Given the description of an element on the screen output the (x, y) to click on. 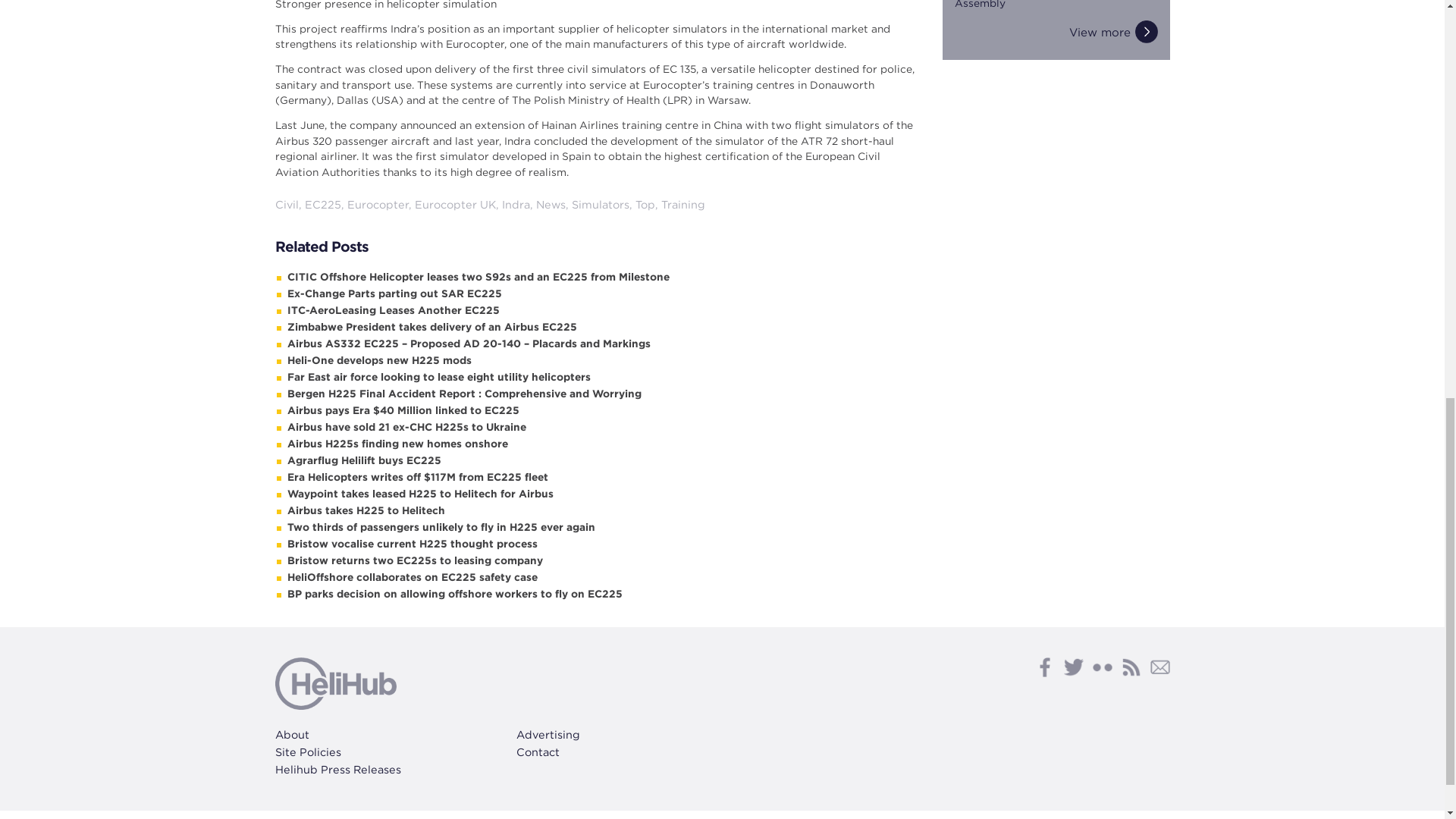
Twitter (1072, 667)
Facebook (1043, 667)
Flickr (1102, 667)
Subscribe (1159, 667)
Helihub (335, 683)
RSS (1130, 667)
